Given the description of an element on the screen output the (x, y) to click on. 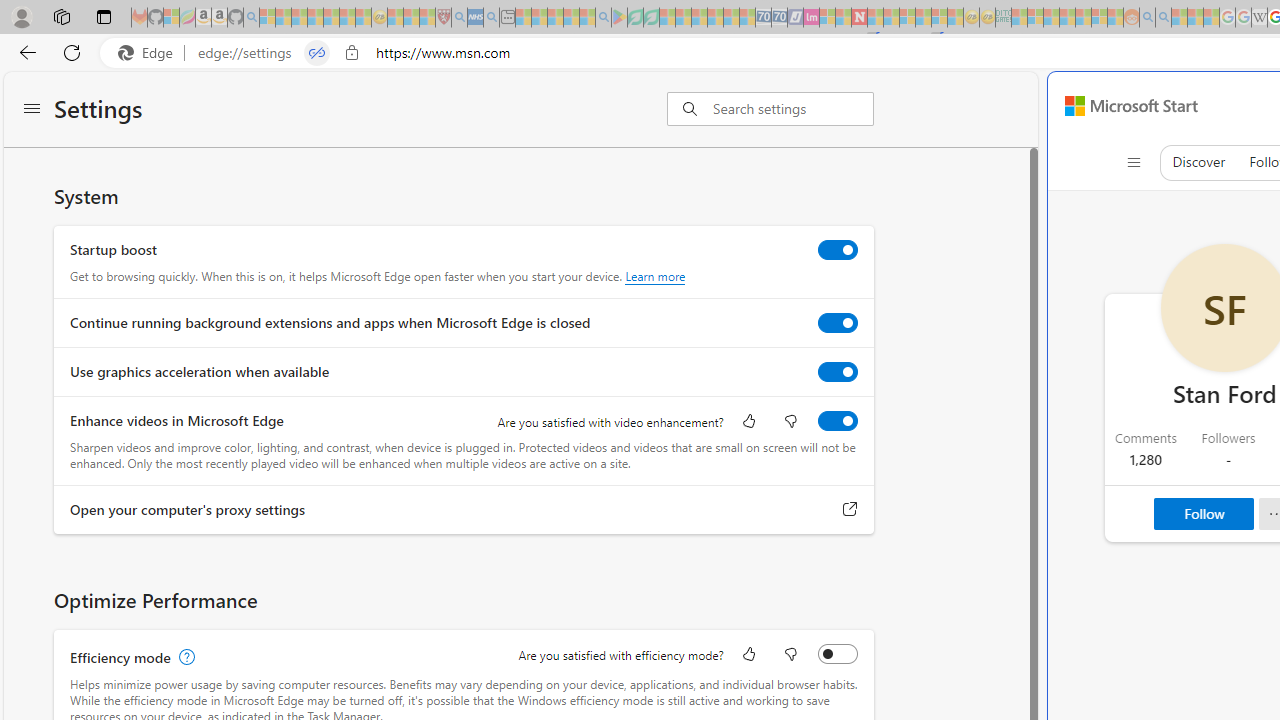
Edge (150, 53)
Efficiency mode (837, 653)
